Given the description of an element on the screen output the (x, y) to click on. 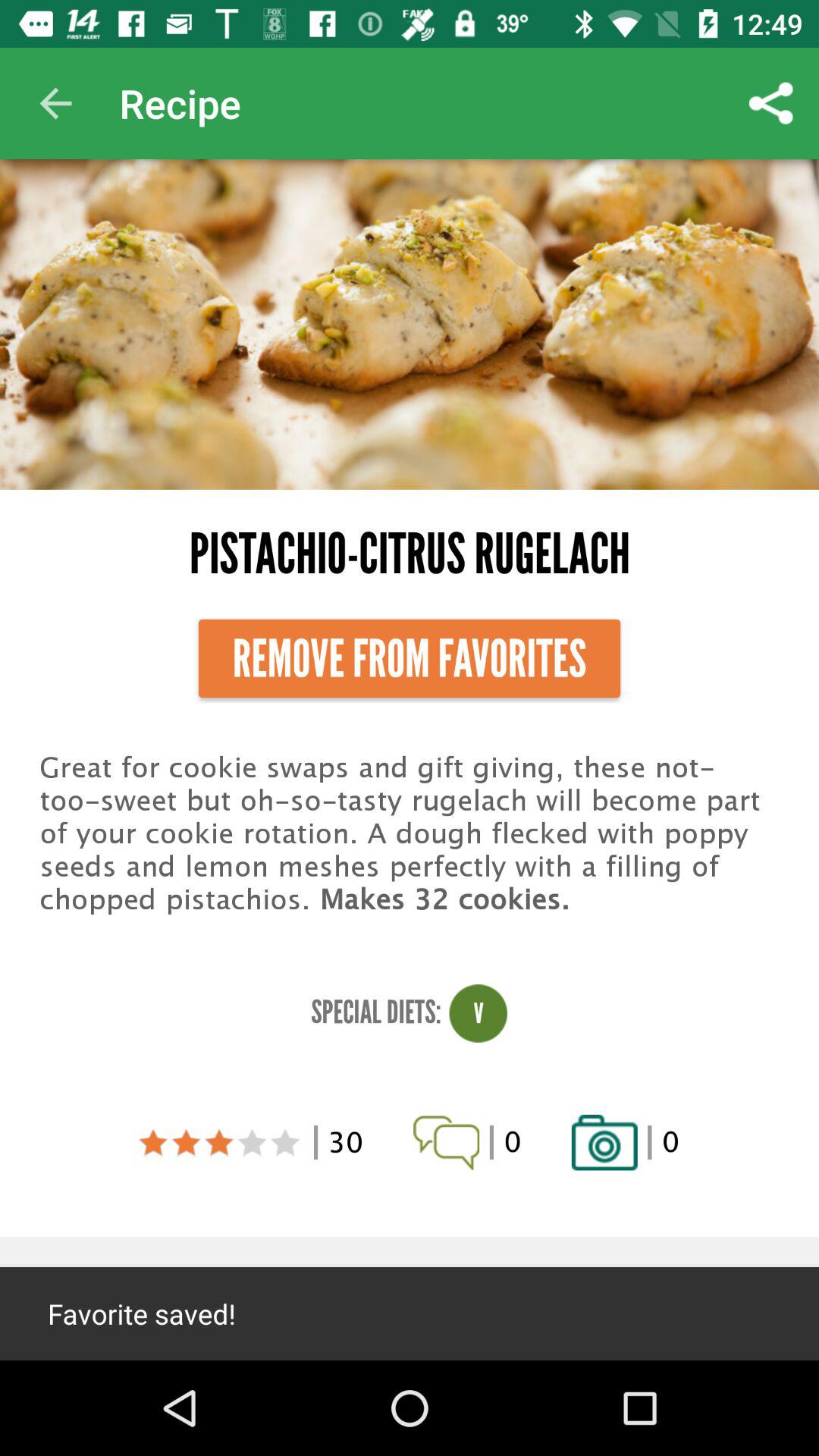
press the app next to recipe item (55, 103)
